Given the description of an element on the screen output the (x, y) to click on. 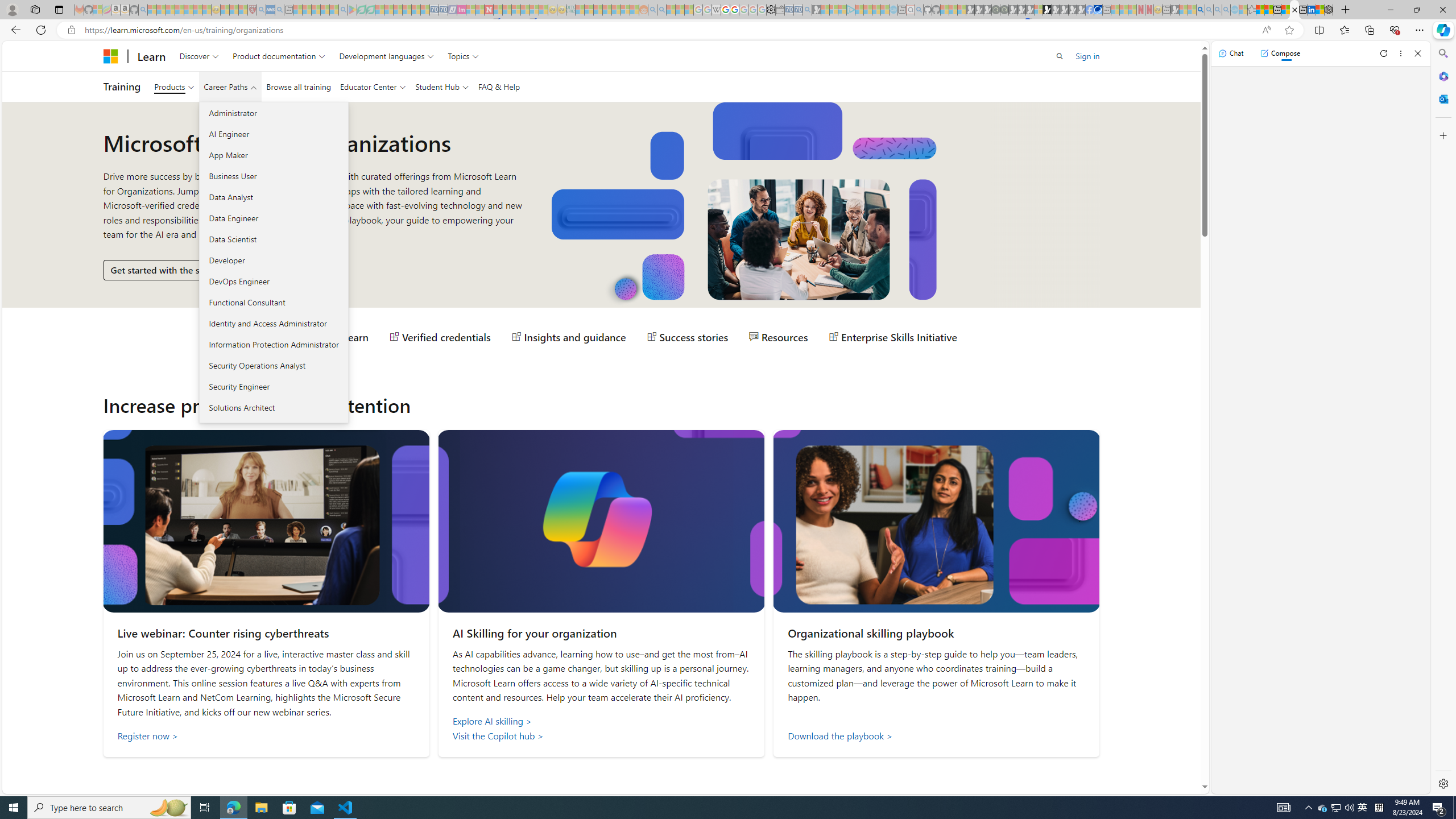
AI Engineer (273, 133)
Security Operations Analyst (273, 364)
Training (122, 86)
Privacy Help Center - Policies Help (725, 9)
Student Hub (441, 86)
